Given the description of an element on the screen output the (x, y) to click on. 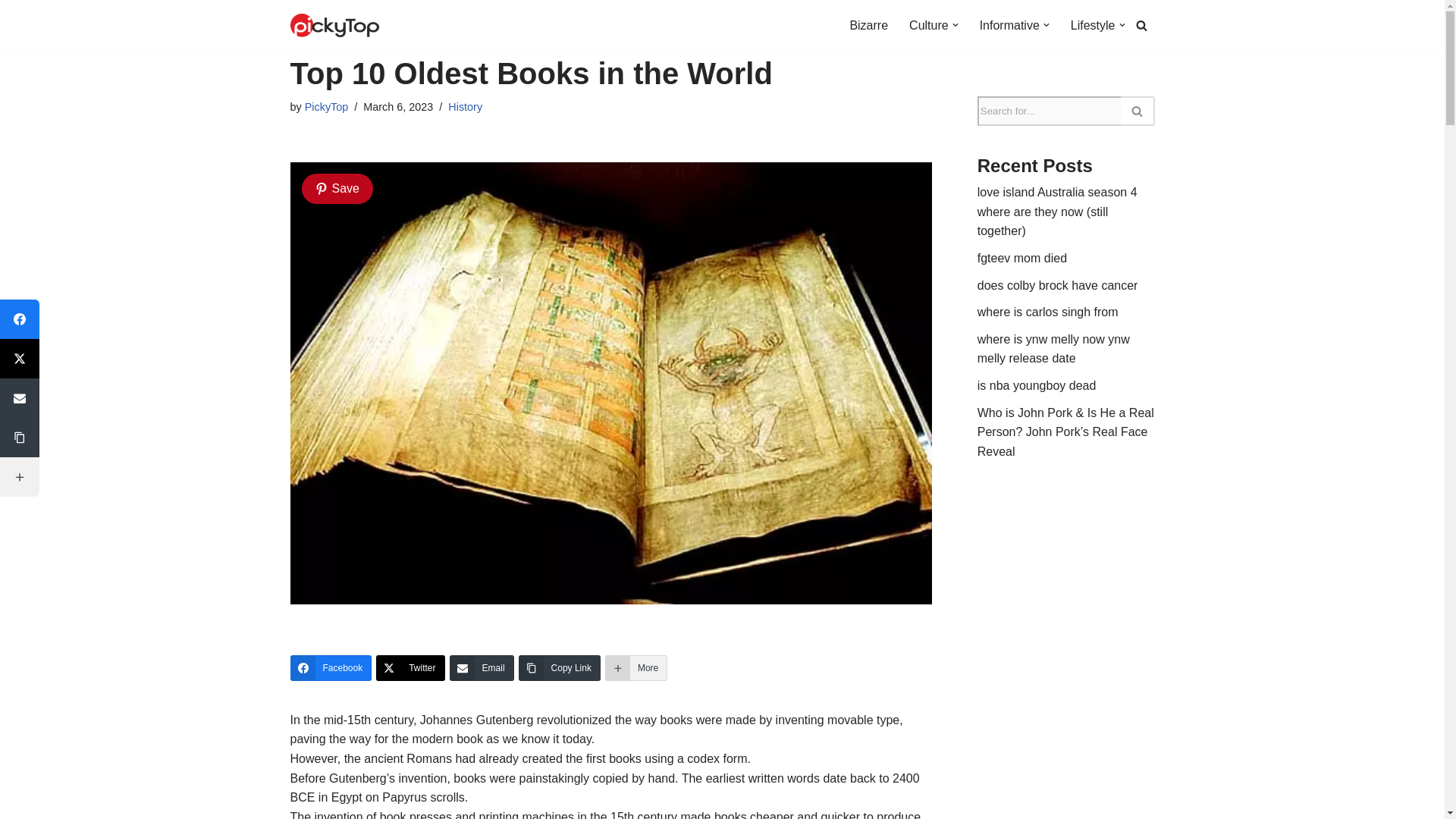
Bizarre (868, 25)
Posts by PickyTop (326, 106)
Skip to content (11, 31)
Lifestyle (1092, 25)
Informative (1009, 25)
Culture (928, 25)
